Given the description of an element on the screen output the (x, y) to click on. 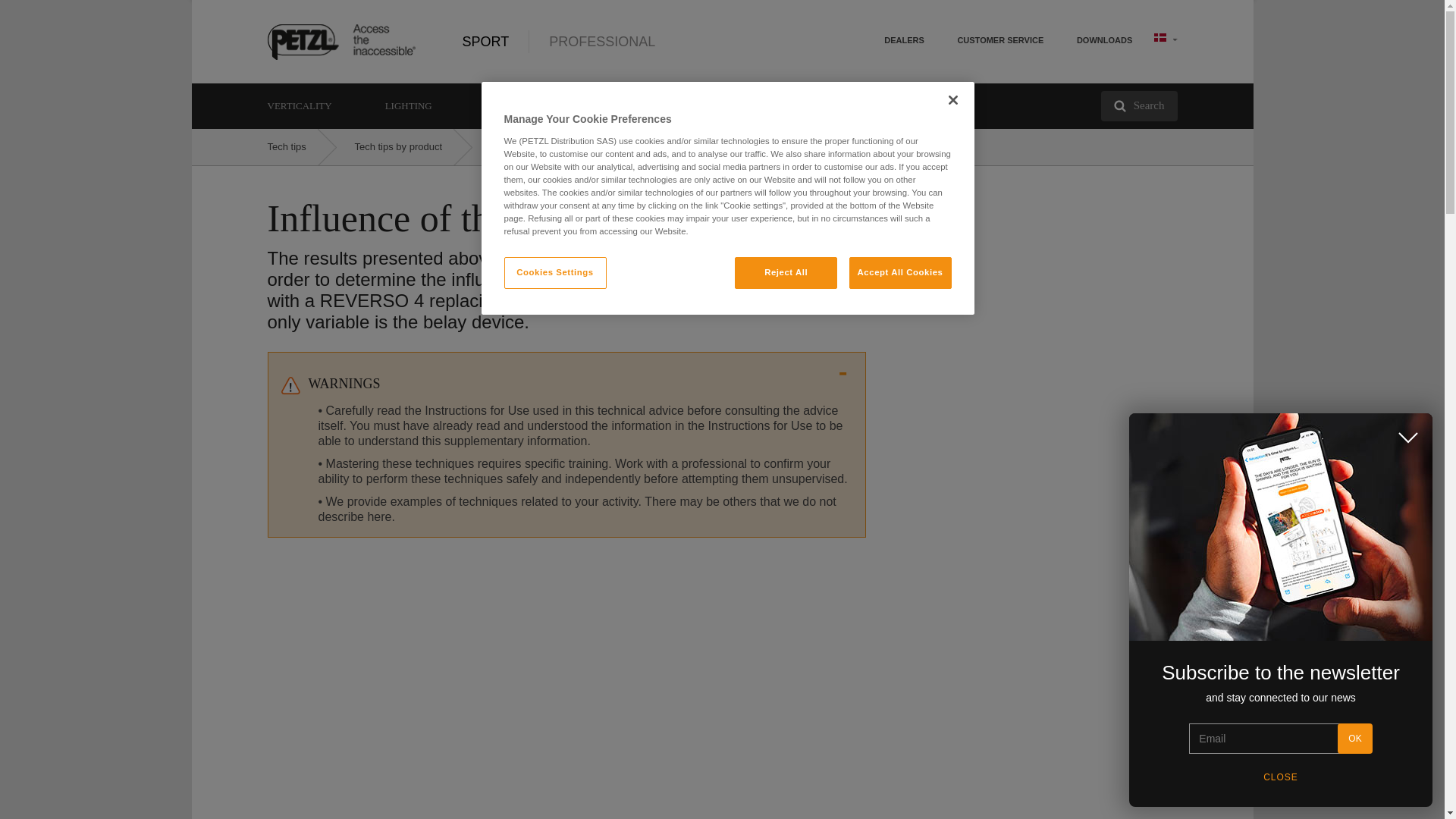
OK (1354, 738)
CUSTOMER SERVICE (999, 39)
SPORT (486, 40)
DEALERS (903, 39)
DOWNLOADS (1104, 39)
PROFESSIONAL (581, 41)
